Given the description of an element on the screen output the (x, y) to click on. 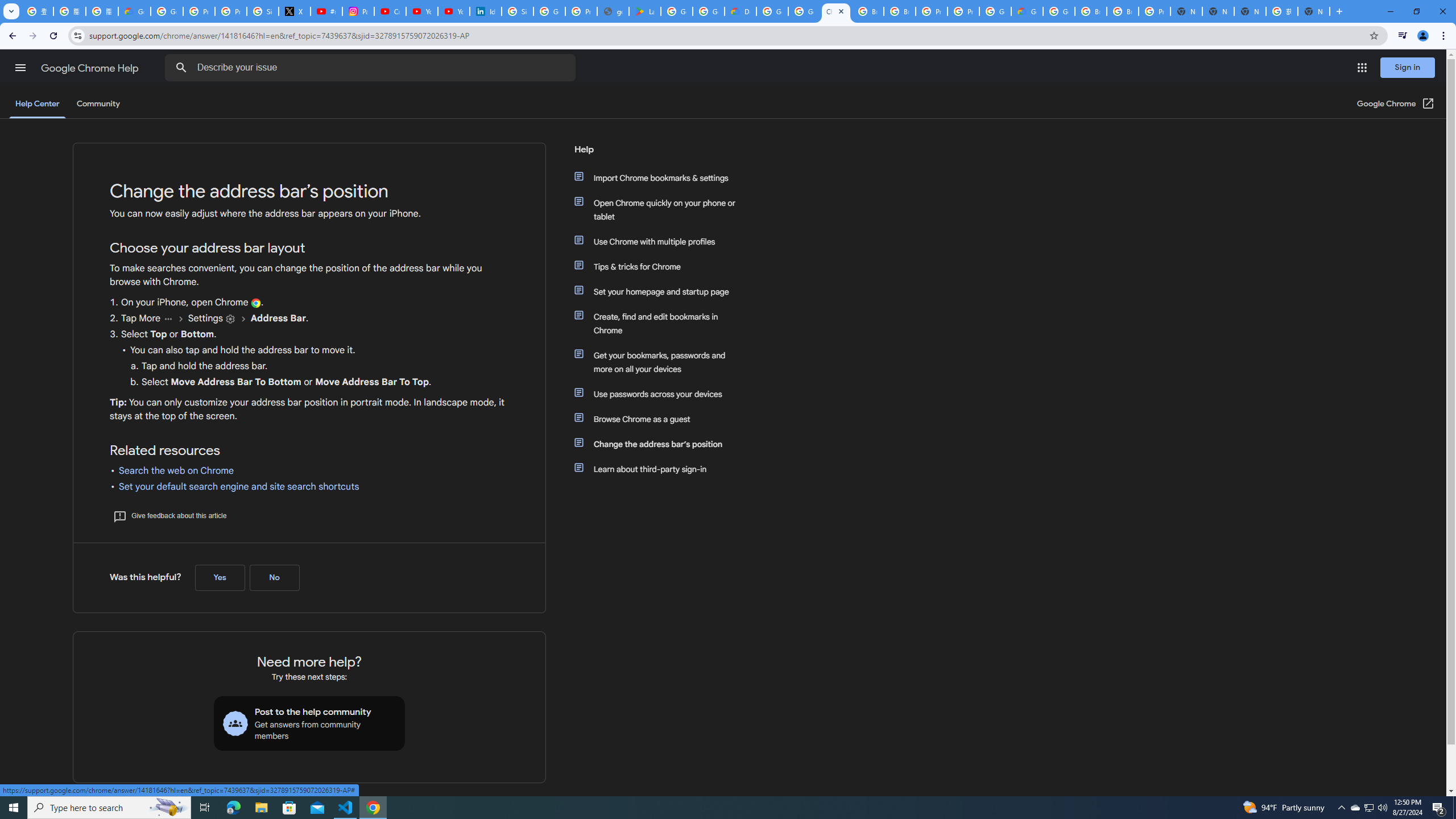
Browse Chrome as a guest - Computer - Google Chrome Help (899, 11)
Control your music, videos, and more (1402, 35)
Import Chrome bookmarks & settings (661, 177)
Privacy Help Center - Policies Help (230, 11)
Sign in - Google Accounts (262, 11)
Settings (230, 318)
Main menu (20, 67)
Google Cloud Platform (772, 11)
Get your bookmarks, passwords and more on all your devices (661, 362)
